Given the description of an element on the screen output the (x, y) to click on. 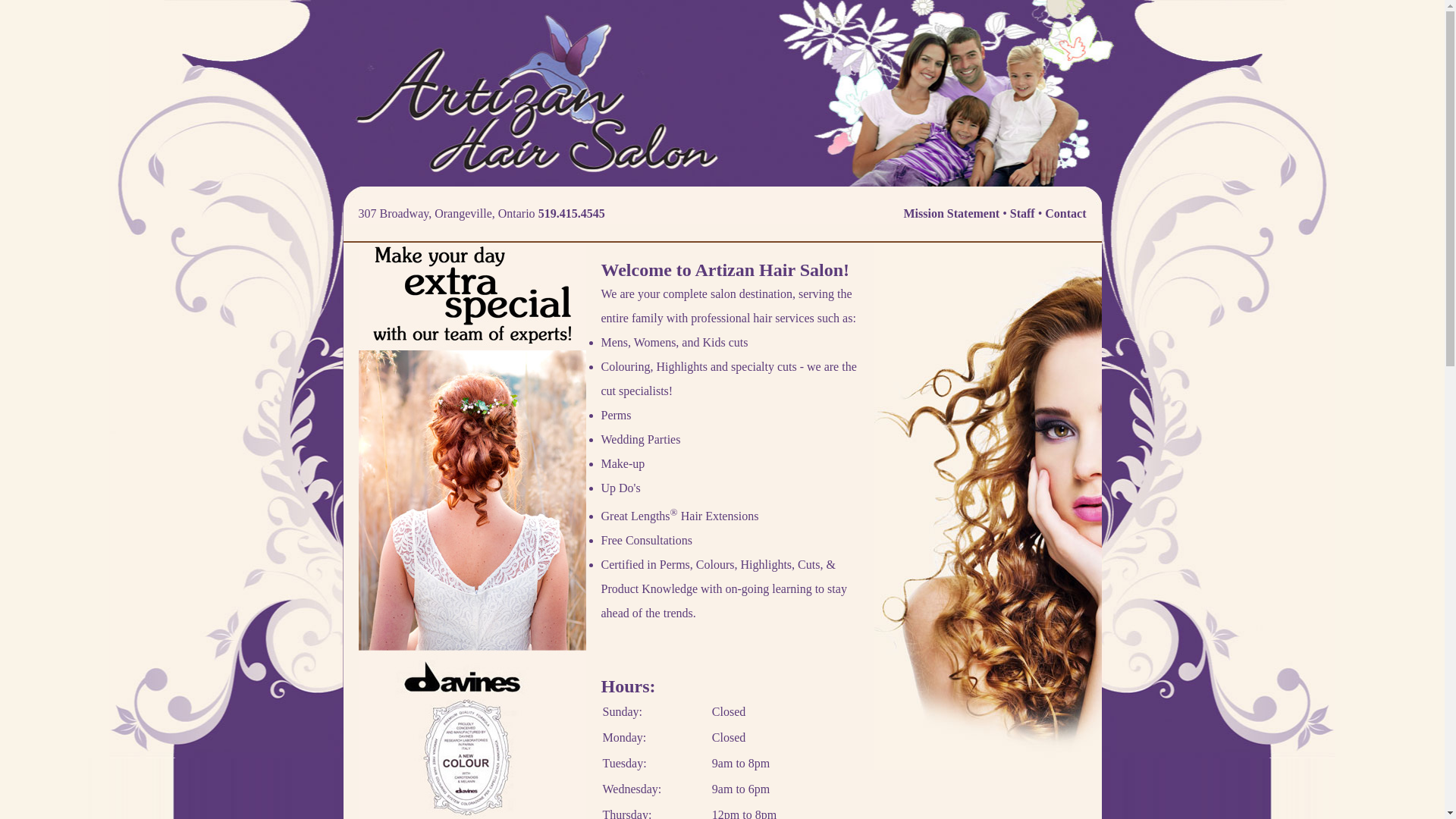
Staff Element type: text (1022, 213)
Mission Statement Element type: text (951, 213)
Contact Element type: text (1064, 213)
